Given the description of an element on the screen output the (x, y) to click on. 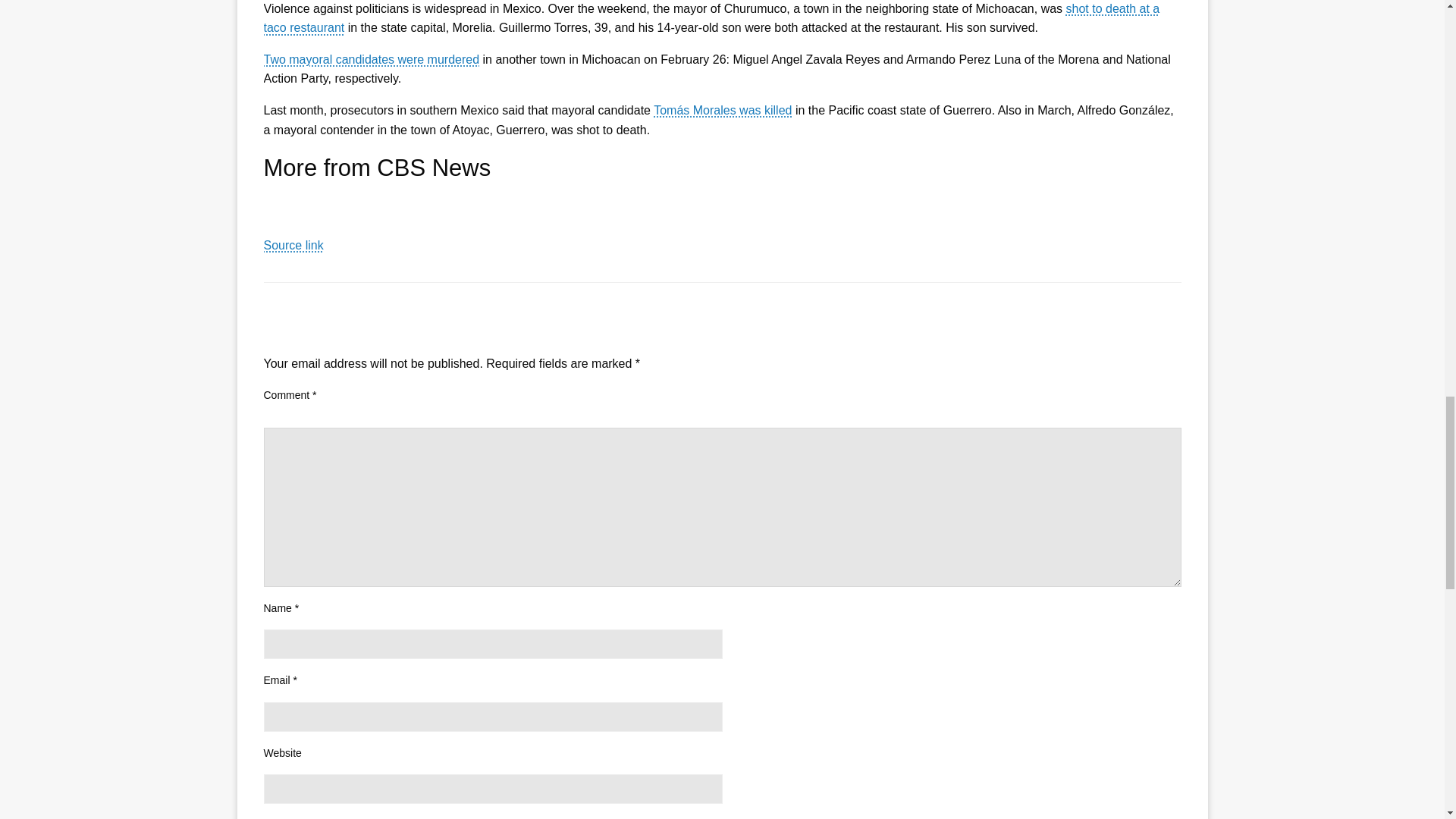
Two mayoral candidates were murdered (371, 59)
shot to death at a taco restaurant (711, 18)
Source link (293, 245)
